Given the description of an element on the screen output the (x, y) to click on. 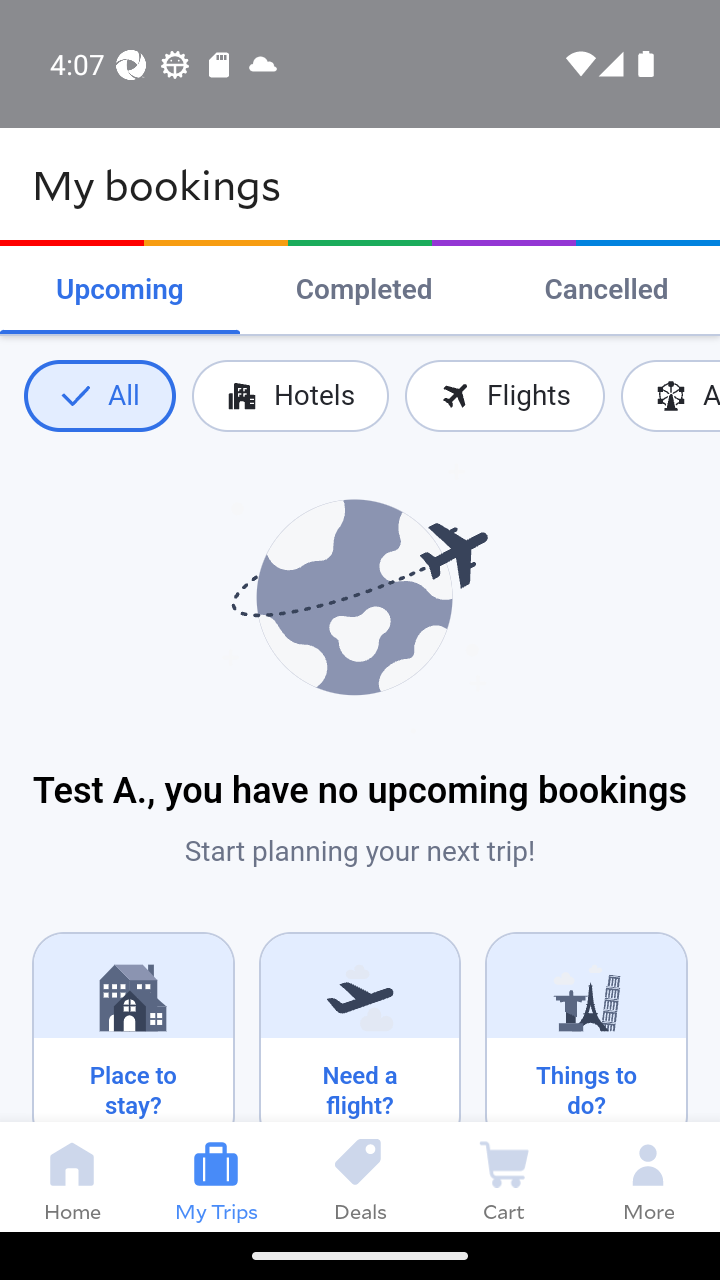
Upcoming (119, 289)
Completed (363, 289)
Cancelled (606, 289)
All (99, 395)
Hotels (290, 395)
Flights (504, 395)
Activities (669, 395)
Home (72, 1176)
My Trips (216, 1176)
Deals (360, 1176)
Cart (504, 1176)
More (648, 1176)
